Given the description of an element on the screen output the (x, y) to click on. 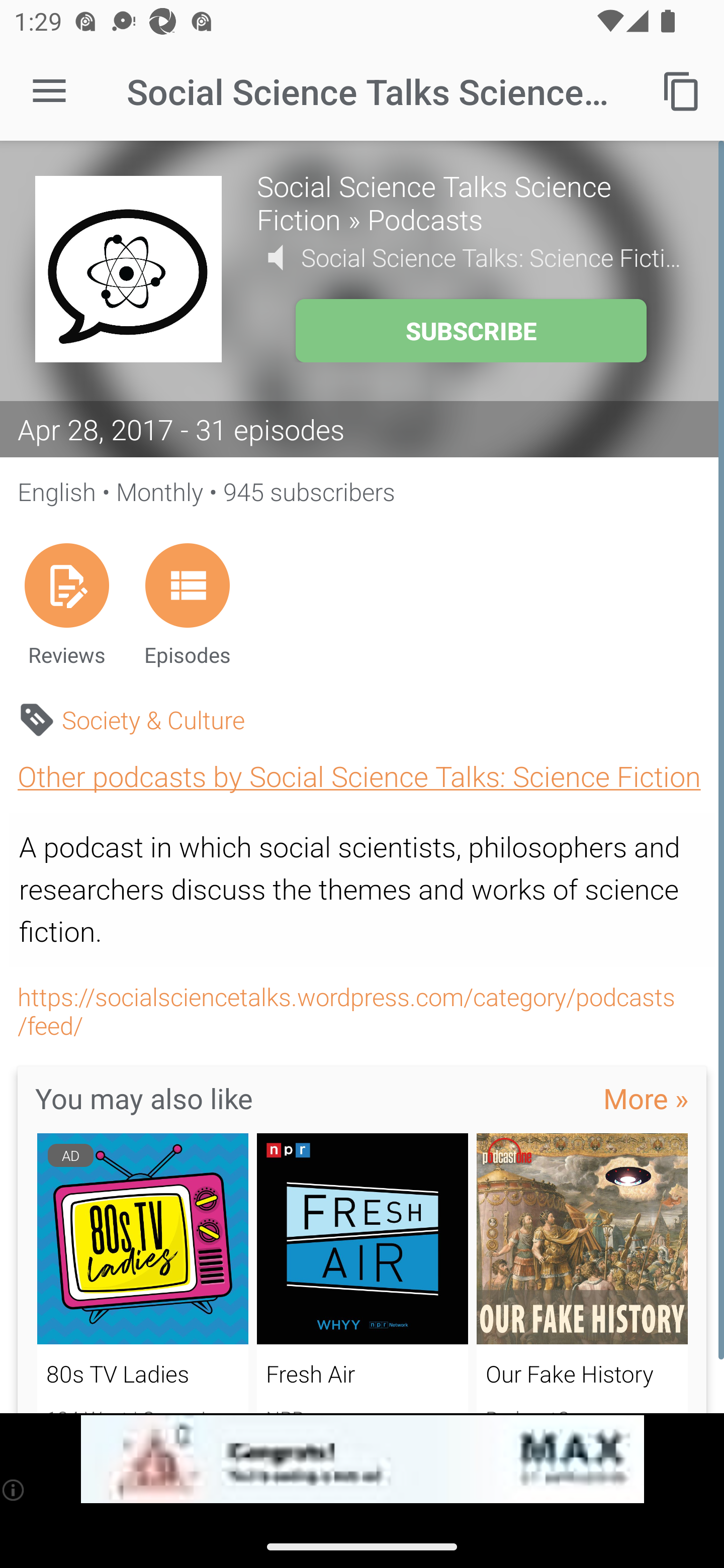
Open navigation sidebar (49, 91)
Copy feed url to clipboard (681, 90)
Social Science Talks Science Fiction » Podcasts (472, 202)
SUBSCRIBE (470, 330)
Reviews (66, 604)
Episodes (187, 604)
More » (645, 1097)
Fresh Air NPR (362, 1272)
Our Fake History PodcastOne (581, 1272)
app-monetization (362, 1459)
(i) (14, 1489)
